Given the description of an element on the screen output the (x, y) to click on. 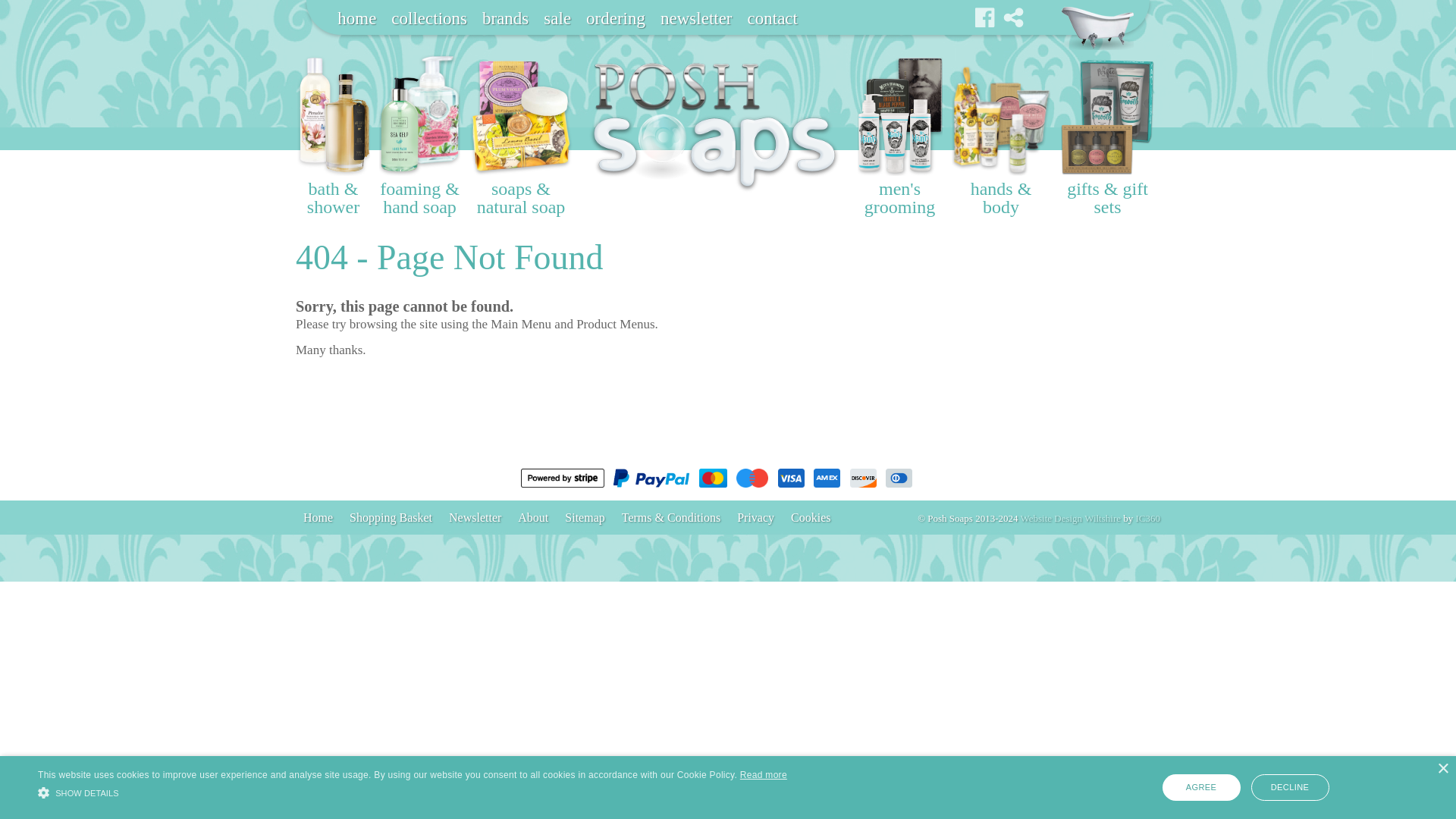
ordering (615, 18)
Posh Soaps on Facebook (985, 16)
Cookies (809, 518)
Share the Posh Soaps website (1013, 16)
Shopping Basket (1097, 26)
contact (772, 18)
Privacy (755, 518)
sale (556, 18)
Home (317, 518)
Sitemap (584, 518)
